Given the description of an element on the screen output the (x, y) to click on. 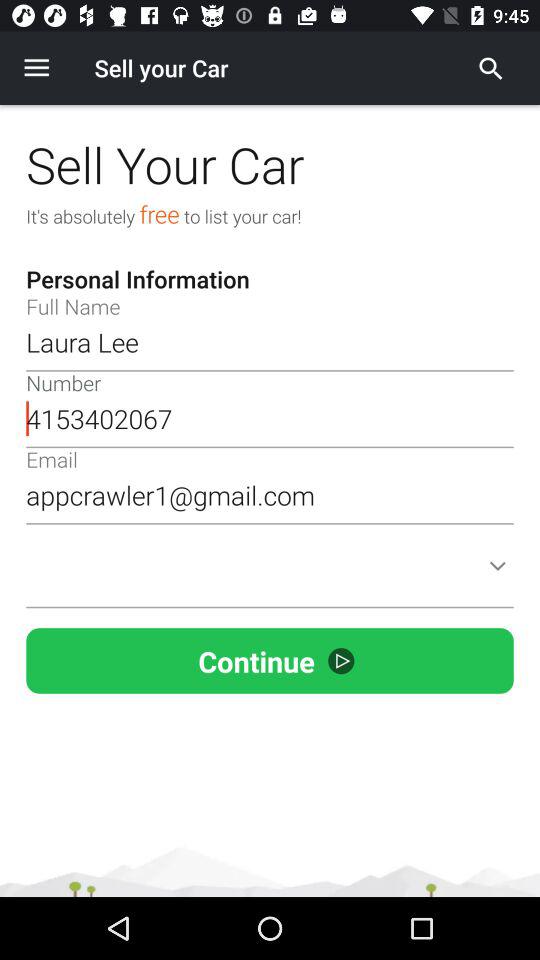
click the appcrawler1@gmail.com item (269, 495)
